Given the description of an element on the screen output the (x, y) to click on. 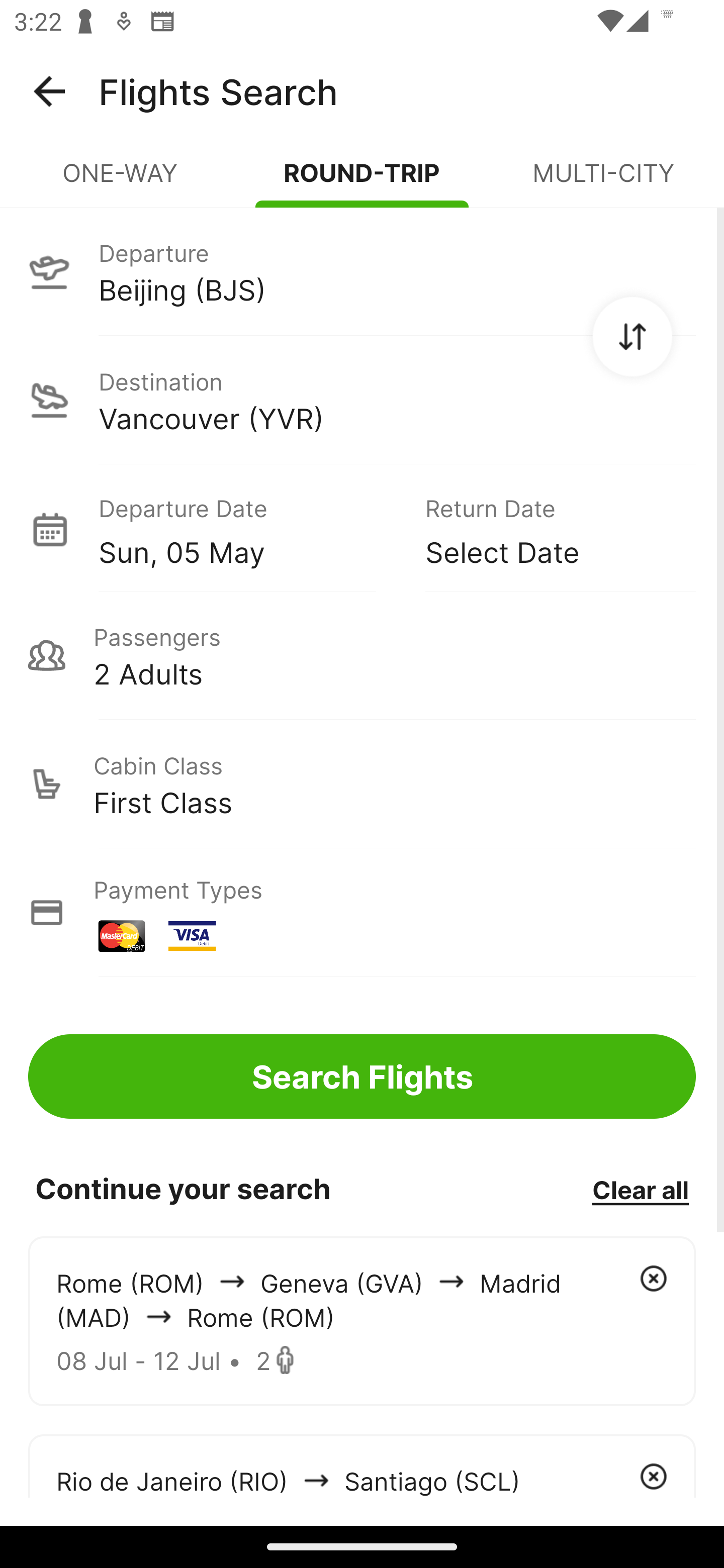
ONE-WAY (120, 180)
ROUND-TRIP (361, 180)
MULTI-CITY (603, 180)
Departure Beijing (BJS) (362, 270)
Destination Vancouver (YVR) (362, 400)
Departure Date Sun, 05 May (247, 528)
Return Date Select Date (546, 528)
Passengers 2 Adults (362, 655)
Cabin Class First Class (362, 783)
Payment Types (362, 912)
Search Flights (361, 1075)
Clear all (640, 1189)
Rio de Janeiro (RIO)  arrowIcon  Santiago (SCL) (361, 1465)
